Given the description of an element on the screen output the (x, y) to click on. 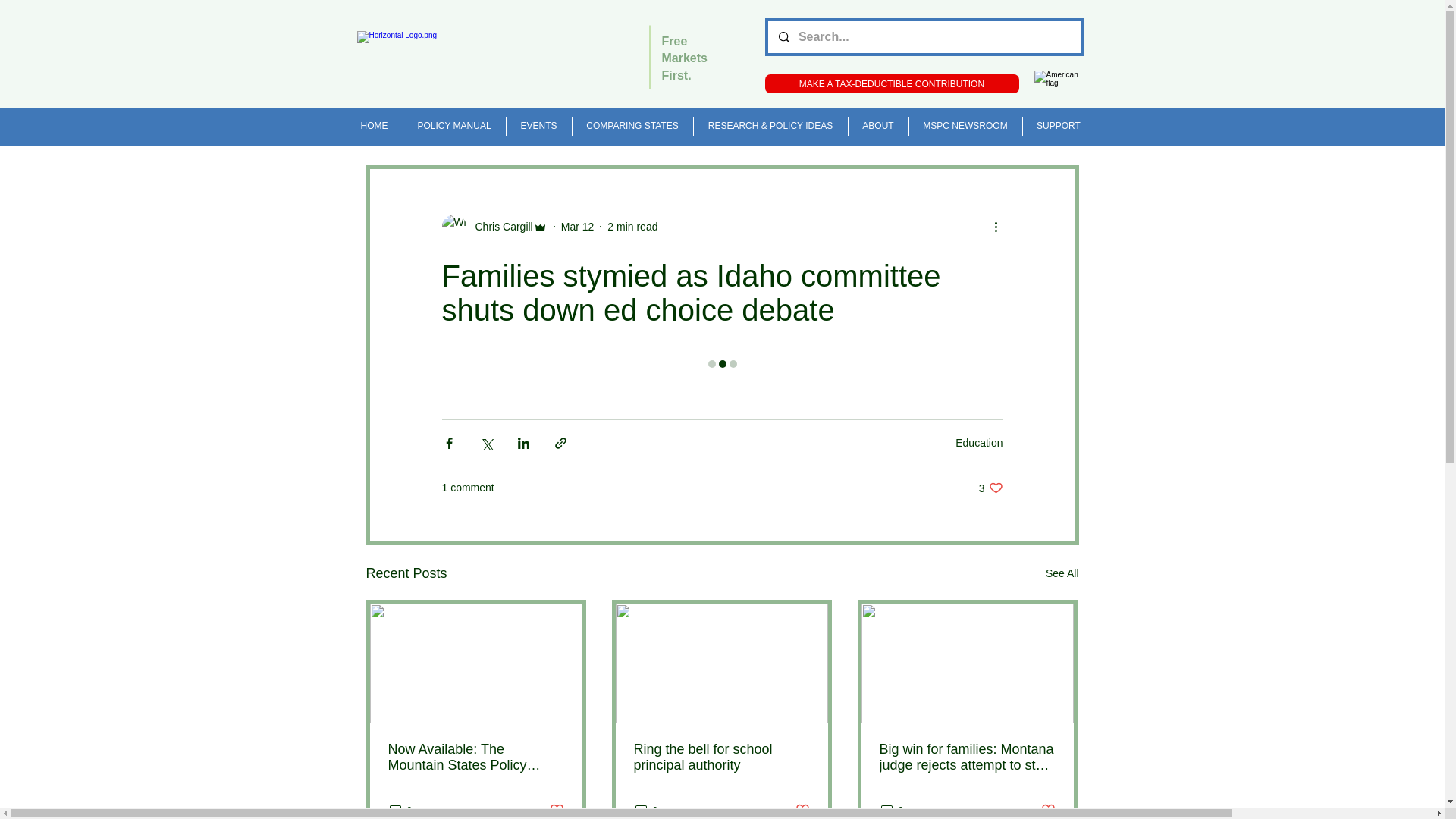
HOME (373, 126)
MAKE A TAX-DEDUCTIBLE CONTRIBUTION (890, 83)
MSPC NEWSROOM (965, 126)
COMPARING STATES (632, 126)
ABOUT (877, 126)
Chris Cargill (498, 227)
EVENTS (539, 126)
2 min read (632, 226)
Mar 12 (577, 226)
POLICY MANUAL (454, 126)
